Given the description of an element on the screen output the (x, y) to click on. 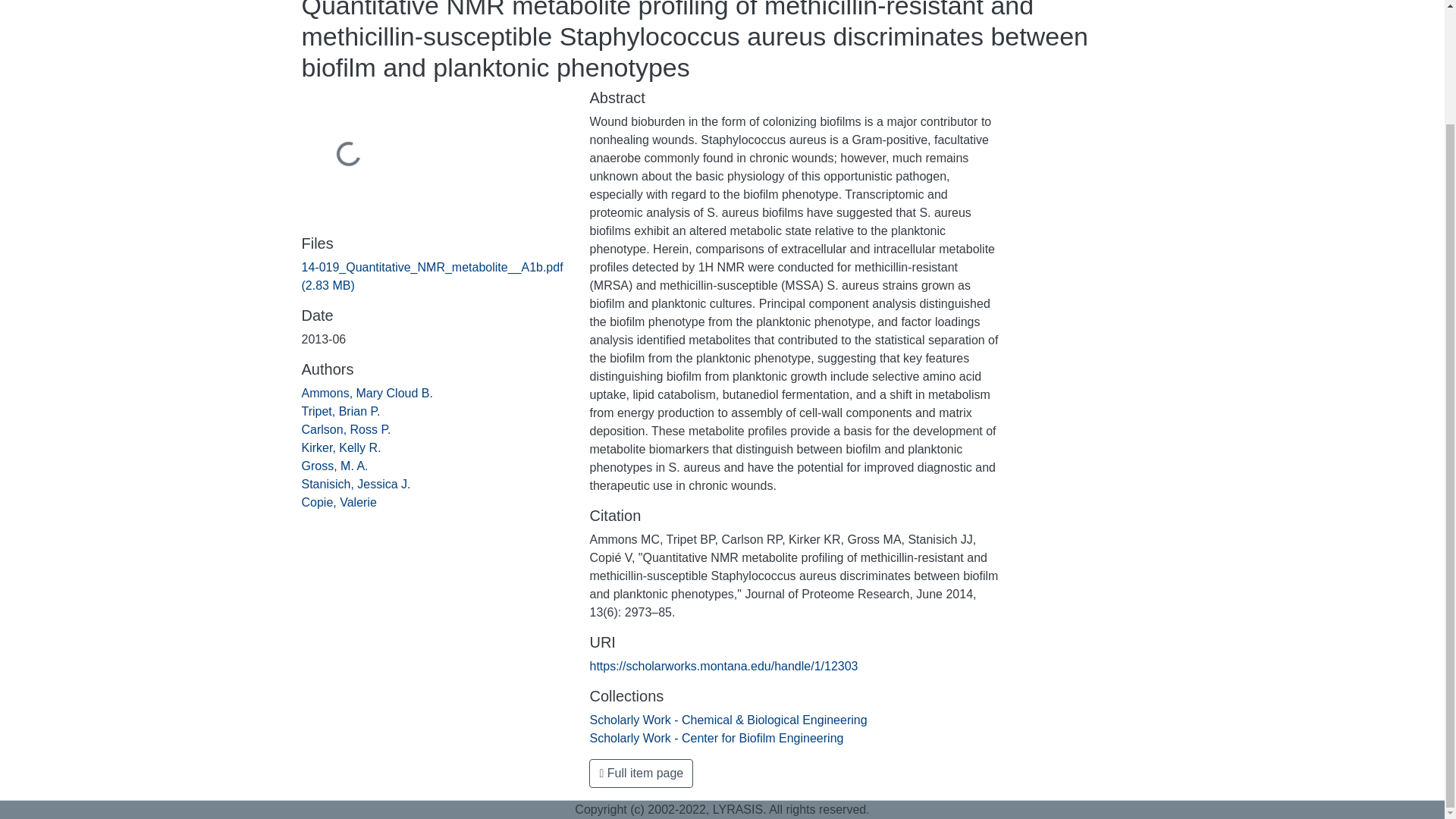
Tripet, Brian P. (340, 410)
Carlson, Ross P. (346, 429)
Kirker, Kelly R. (341, 447)
Ammons, Mary Cloud B. (366, 392)
Scholarly Work - Center for Biofilm Engineering (716, 738)
Copie, Valerie (339, 502)
Stanisich, Jessica J. (355, 483)
Gross, M. A. (334, 465)
Full item page (641, 773)
